Given the description of an element on the screen output the (x, y) to click on. 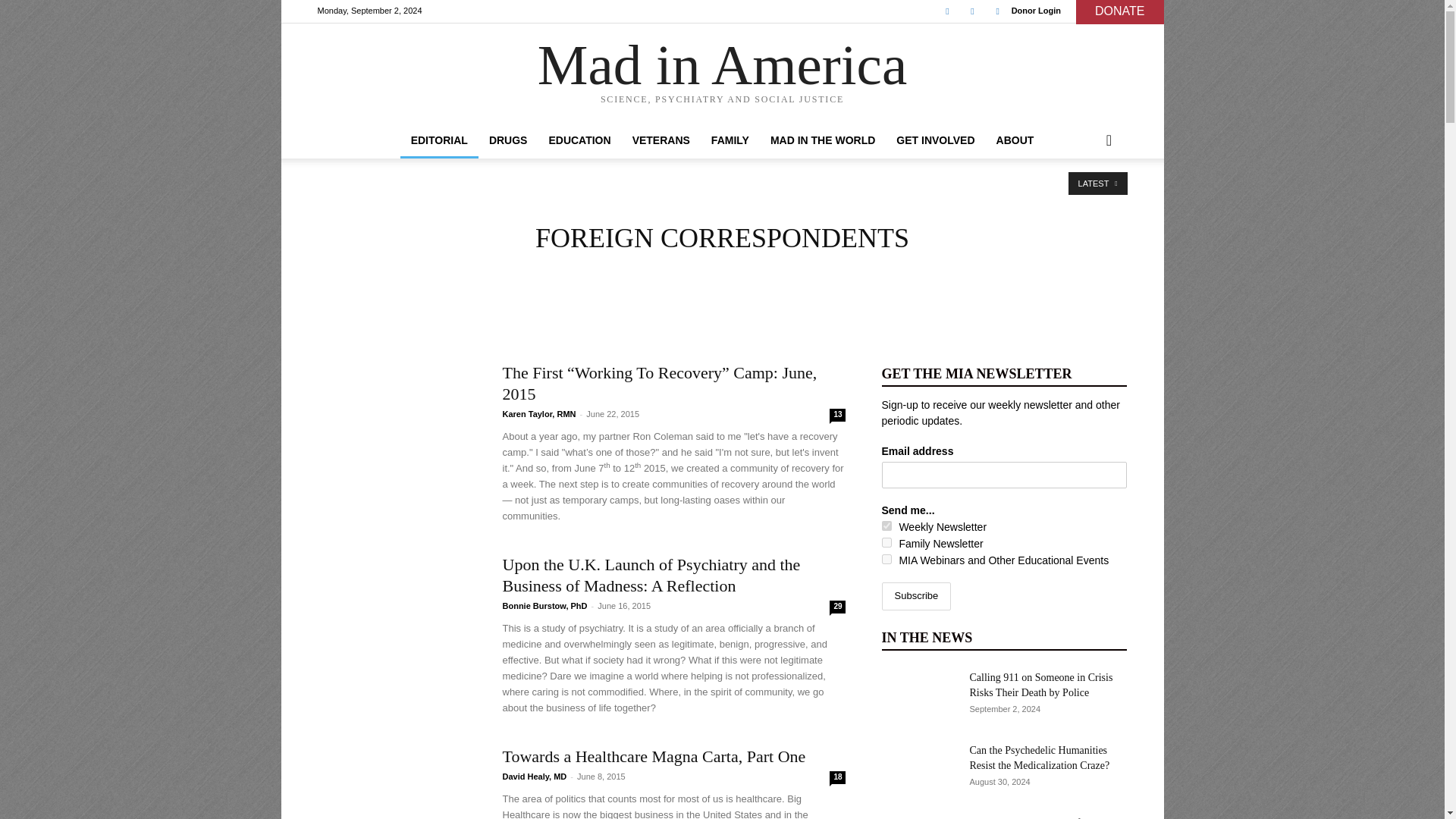
59a3706891 (885, 559)
64ec82b4cd (885, 542)
Youtube (998, 10)
Posts by Karen Taylor, RMN (538, 413)
Posts by Bonnie Burstow, PhD (544, 605)
Subscribe (915, 596)
a8b577bac2 (885, 525)
Facebook (947, 10)
Twitter (972, 10)
